Given the description of an element on the screen output the (x, y) to click on. 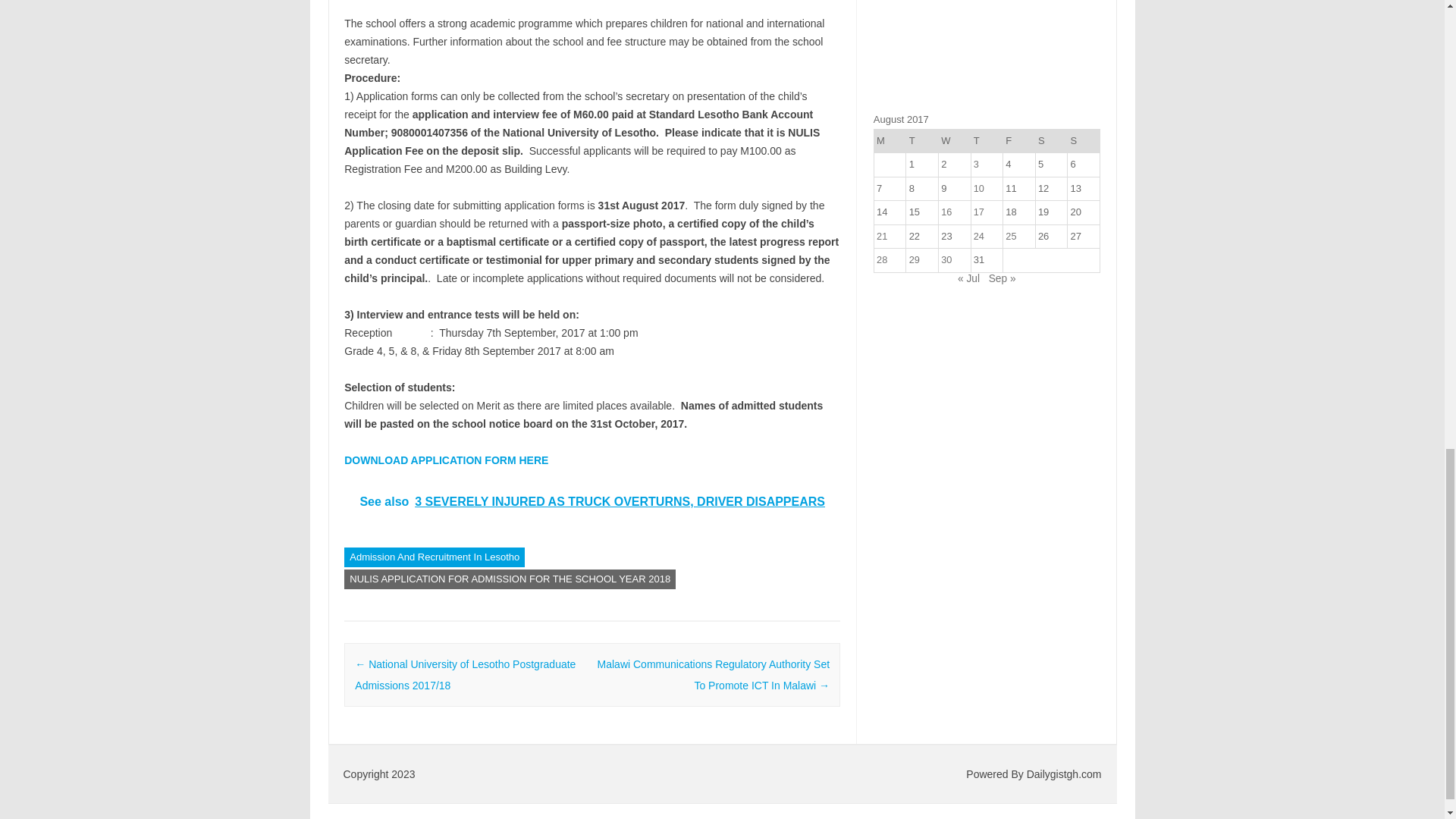
NULIS APPLICATION FOR ADMISSION FOR THE SCHOOL YEAR 2018 (509, 578)
10 (979, 188)
28 (881, 259)
17 (979, 211)
Admission And Recruitment In Lesotho (433, 557)
24 (979, 235)
16 (946, 211)
DOWNLOAD APPLICATION FORM HERE (445, 460)
30 (946, 259)
